Given the description of an element on the screen output the (x, y) to click on. 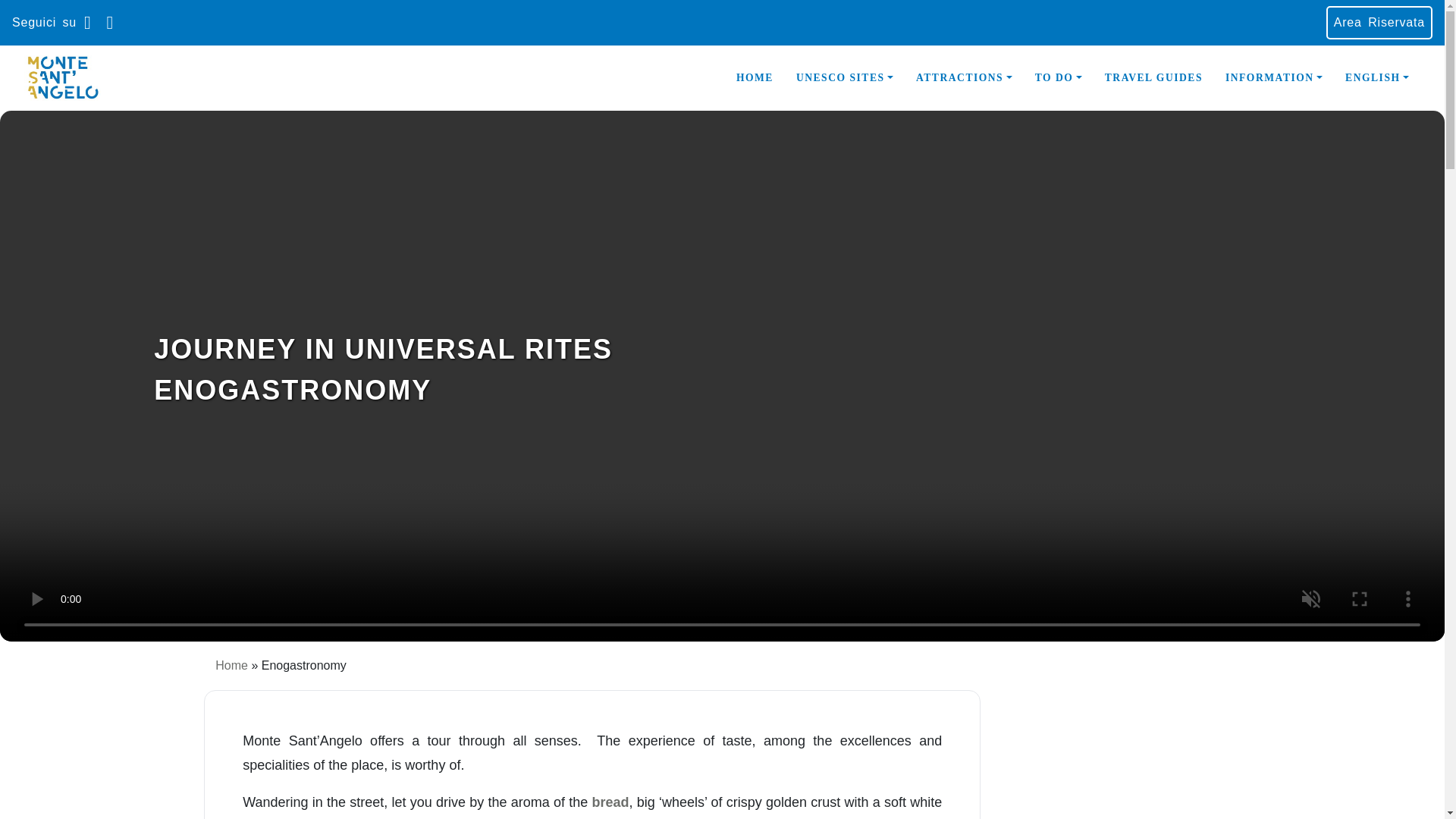
ATTRACTIONS (963, 78)
Attractions (963, 78)
bread (609, 801)
Home (754, 78)
Home (231, 665)
HOME (754, 78)
Area Riservata (1379, 22)
TRAVEL GUIDES (1153, 78)
UNESCO SITES (844, 78)
INFORMATION (1273, 78)
ENGLISH (1377, 78)
TO DO (1058, 78)
Travel Guides (1153, 78)
Unesco Sites (844, 78)
Information (1273, 78)
